Given the description of an element on the screen output the (x, y) to click on. 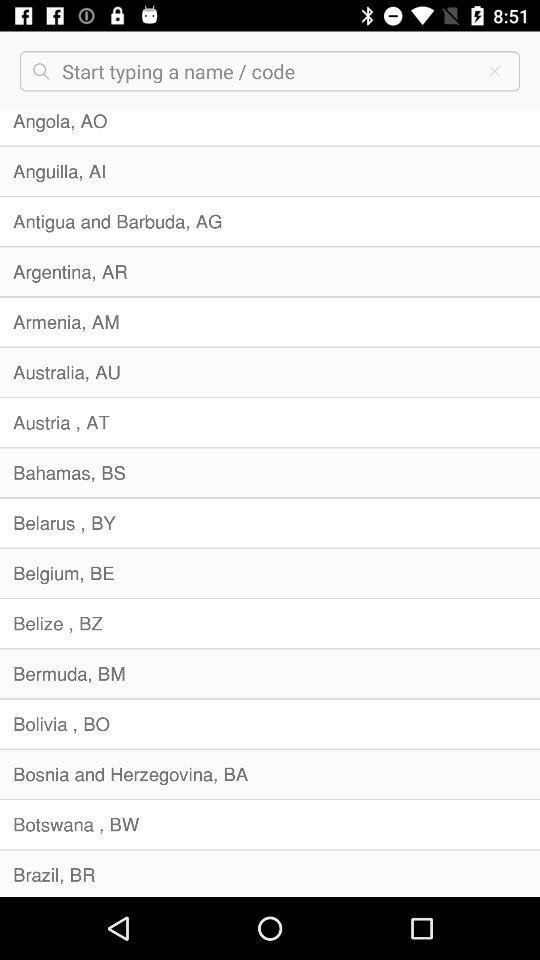
swipe until the brazil, br icon (270, 873)
